Given the description of an element on the screen output the (x, y) to click on. 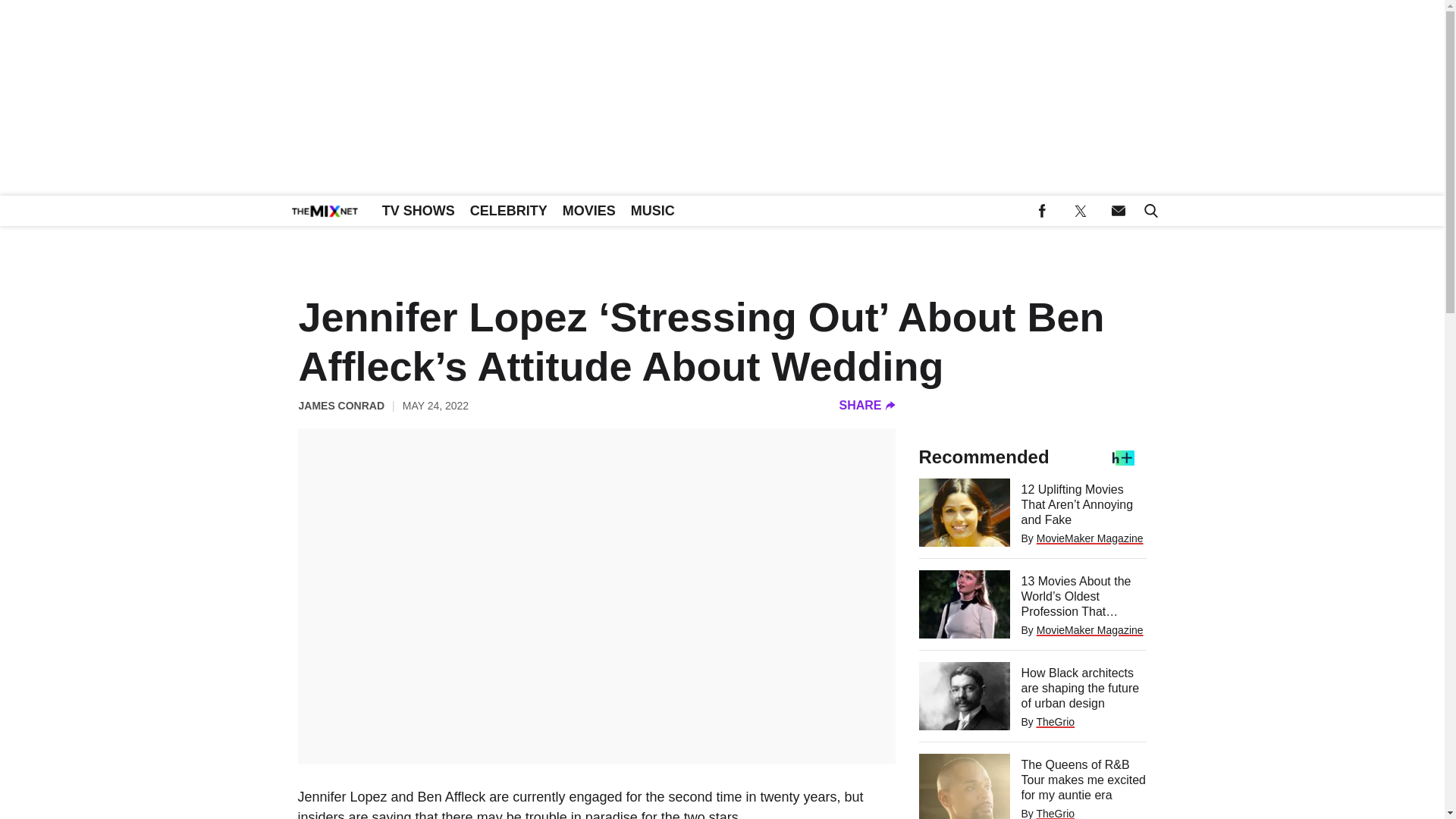
TV SHOWS (418, 210)
Follow us on Facebook (1042, 210)
CELEBRITY (508, 210)
Posts by James Conrad (341, 405)
MOVIES (588, 210)
JAMES CONRAD (341, 405)
Send us an email (1118, 210)
Follow us on Twitter (1080, 210)
MovieMaker Magazine (1089, 630)
MovieMaker Magazine (1089, 538)
